Given the description of an element on the screen output the (x, y) to click on. 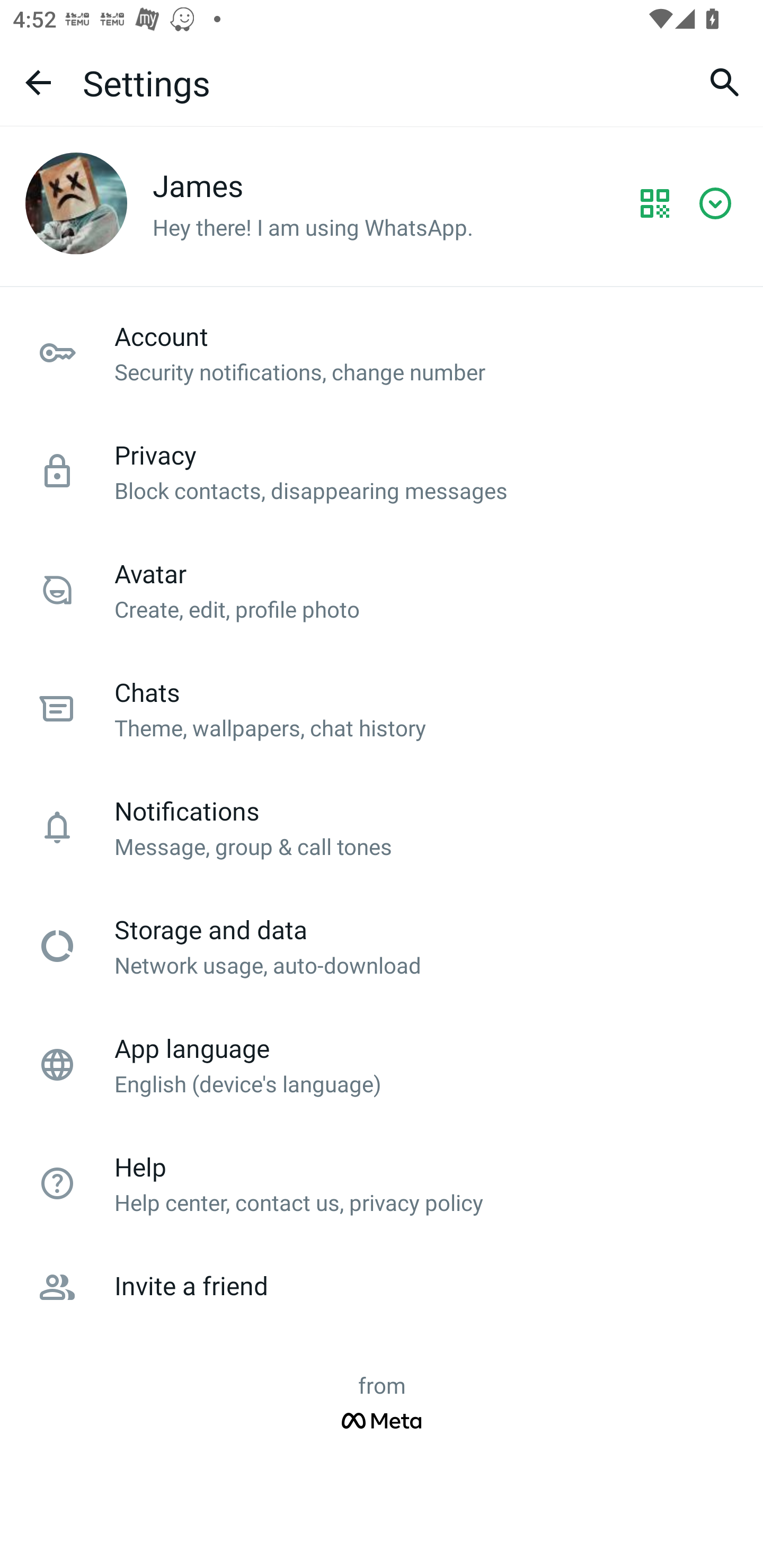
Navigate up (38, 82)
Search (724, 81)
QR code (654, 202)
Button to switch or add an account (719, 202)
Account Security notifications, change number (381, 352)
Privacy Block contacts, disappearing messages (381, 471)
Avatar Create, edit, profile photo (381, 590)
Chats Theme, wallpapers, chat history (381, 708)
Notifications Message, group & call tones (381, 827)
Storage and data Network usage, auto-download (381, 946)
App language English (device's language) (381, 1064)
Help Help center, contact us, privacy policy (381, 1183)
Invite a friend (381, 1287)
